Given the description of an element on the screen output the (x, y) to click on. 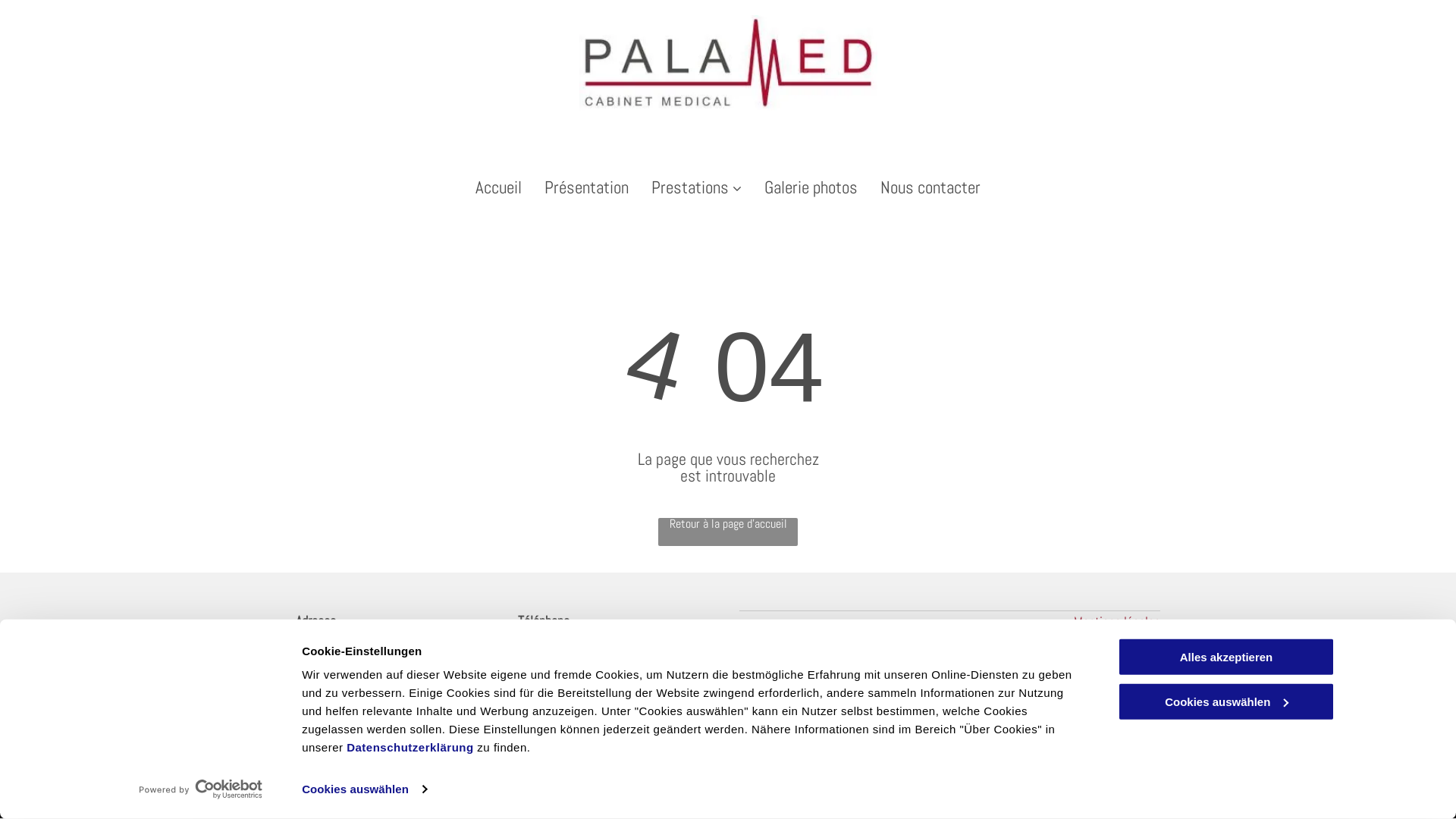
palamed@hin.ch Element type: text (560, 696)
+41 26 912 66 45 Element type: text (564, 652)
Alles akzeptieren Element type: text (1225, 656)
Accueil Element type: text (498, 187)
Nous contacter Element type: text (930, 187)
Prestations Element type: text (696, 187)
Galerie photos Element type: text (810, 187)
